Given the description of an element on the screen output the (x, y) to click on. 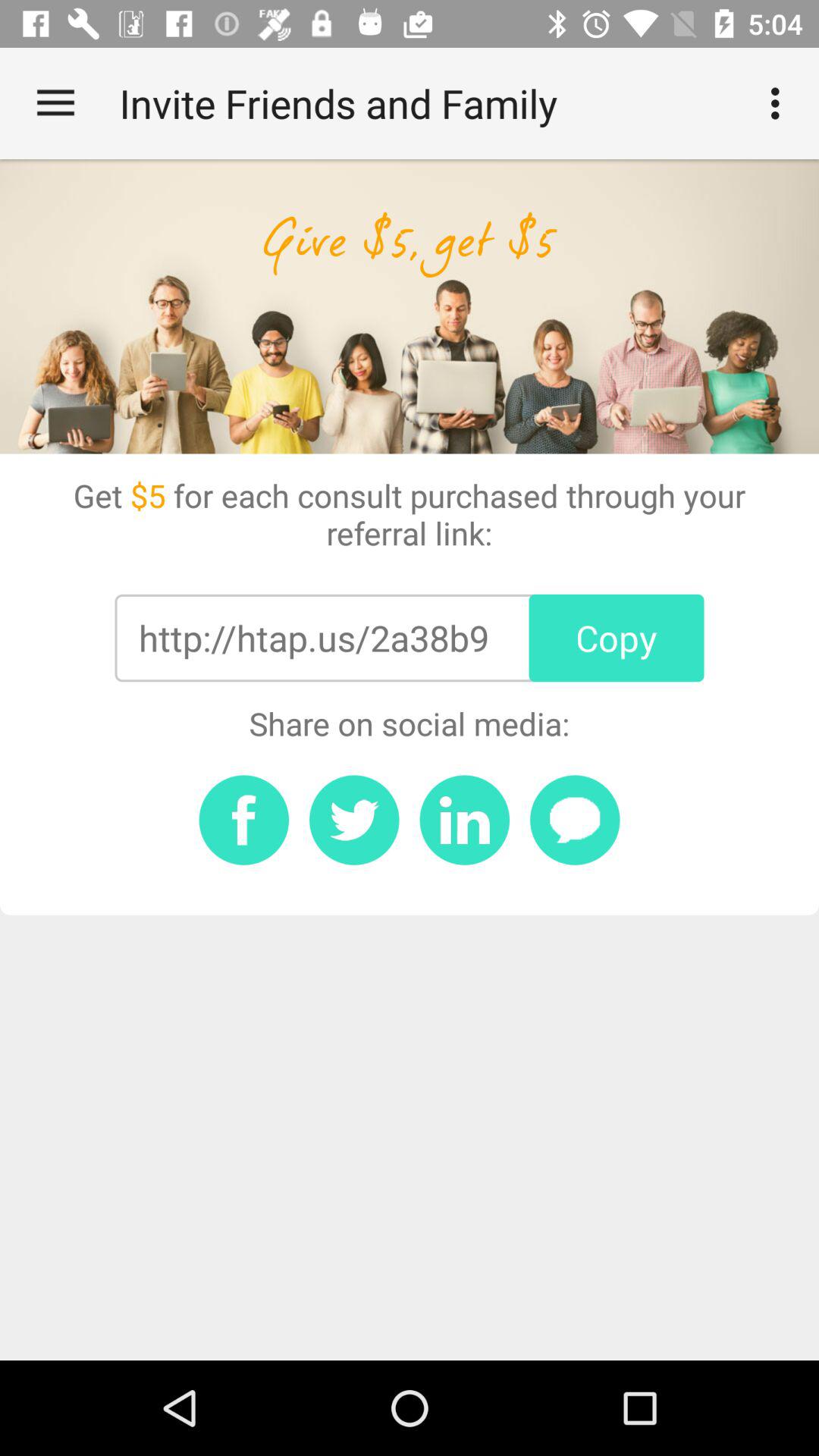
select icon to the right of the invite friends and item (779, 103)
